Given the description of an element on the screen output the (x, y) to click on. 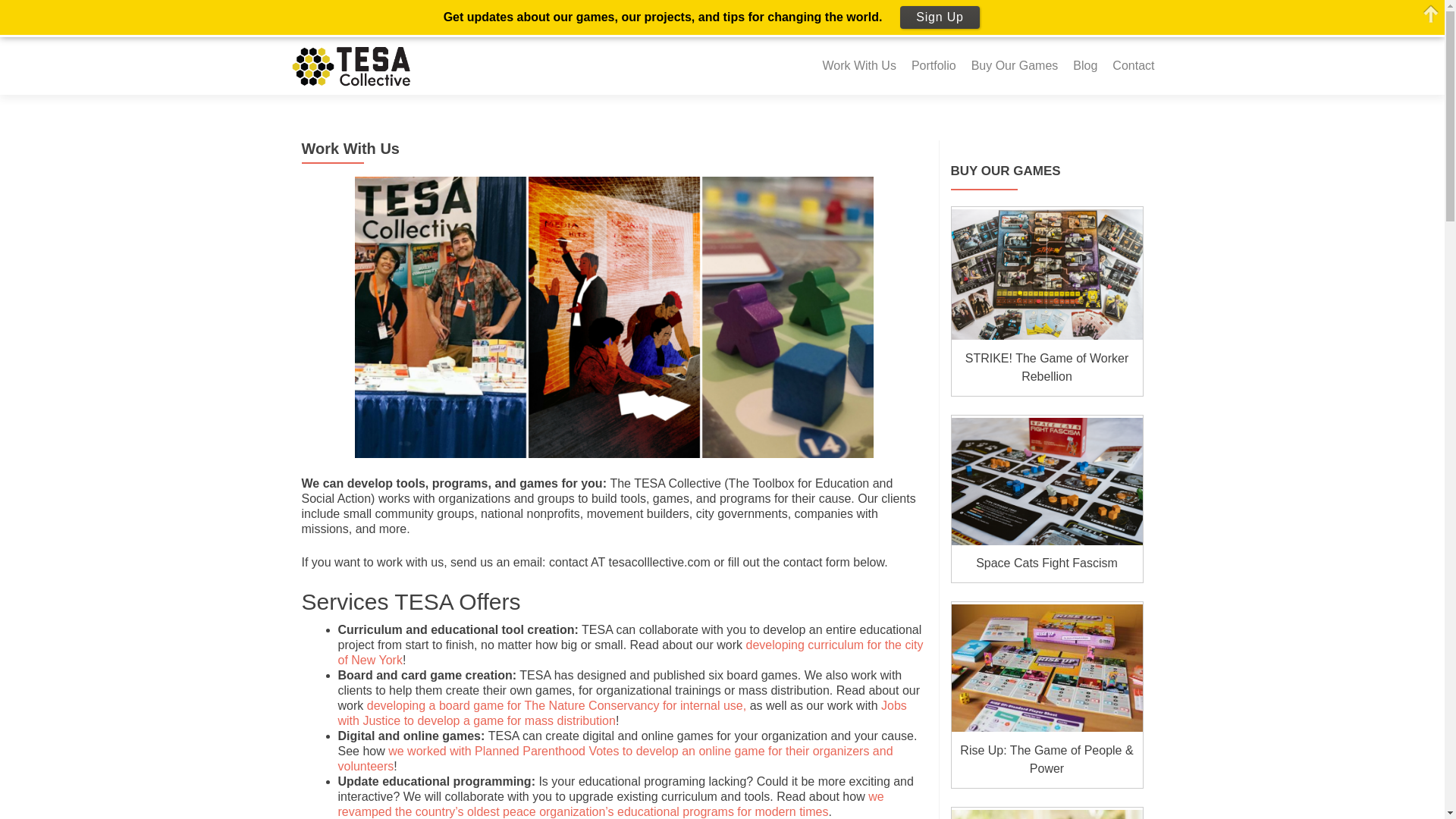
Jobs with Justice to develop a game for mass distribution (622, 713)
Buy Our Games (1014, 65)
developing curriculum for the city of New York (630, 652)
Blog (1085, 65)
Work With Us (858, 65)
Contact (1133, 65)
Portfolio (933, 65)
